Given the description of an element on the screen output the (x, y) to click on. 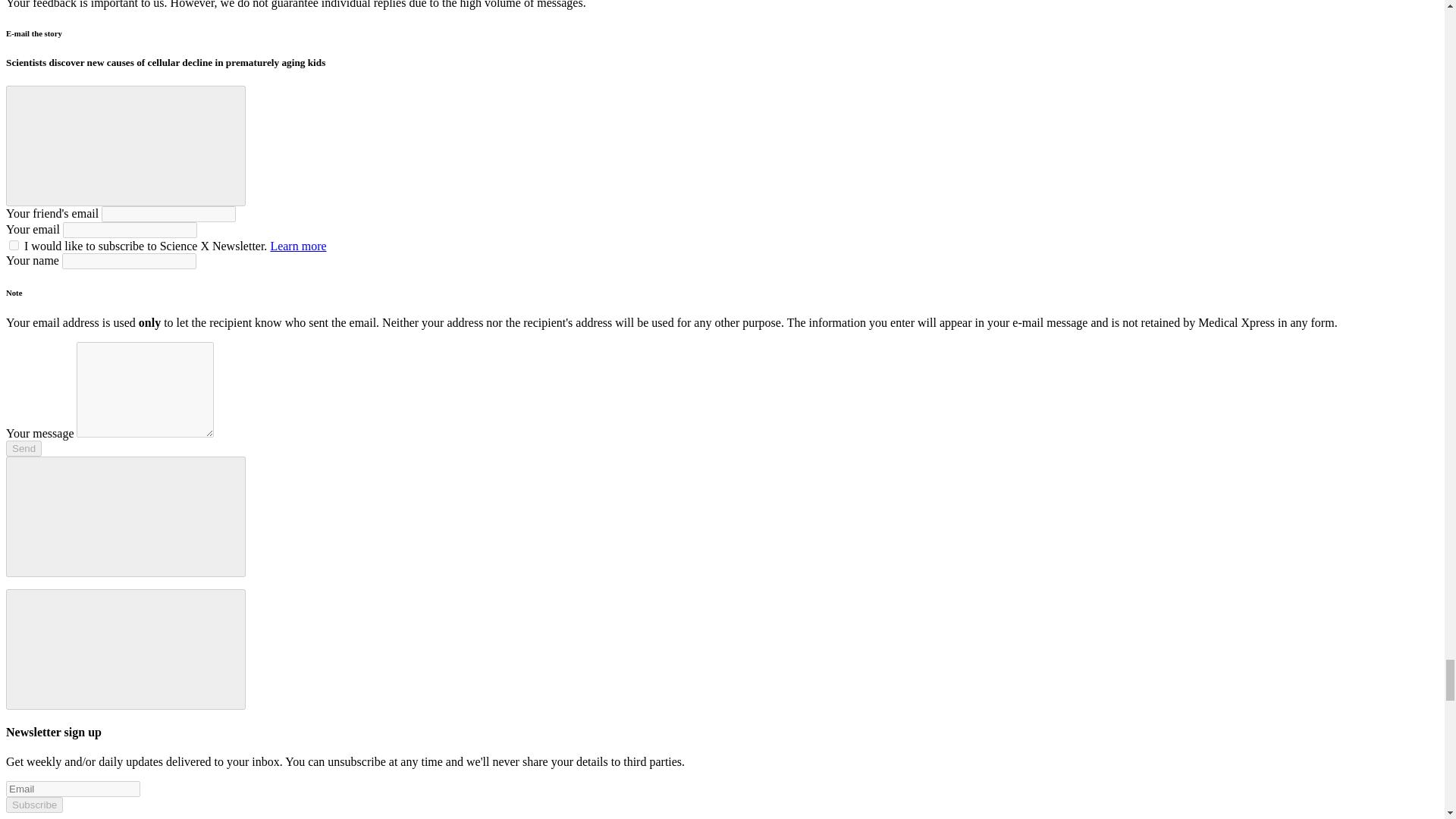
1 (13, 245)
